Given the description of an element on the screen output the (x, y) to click on. 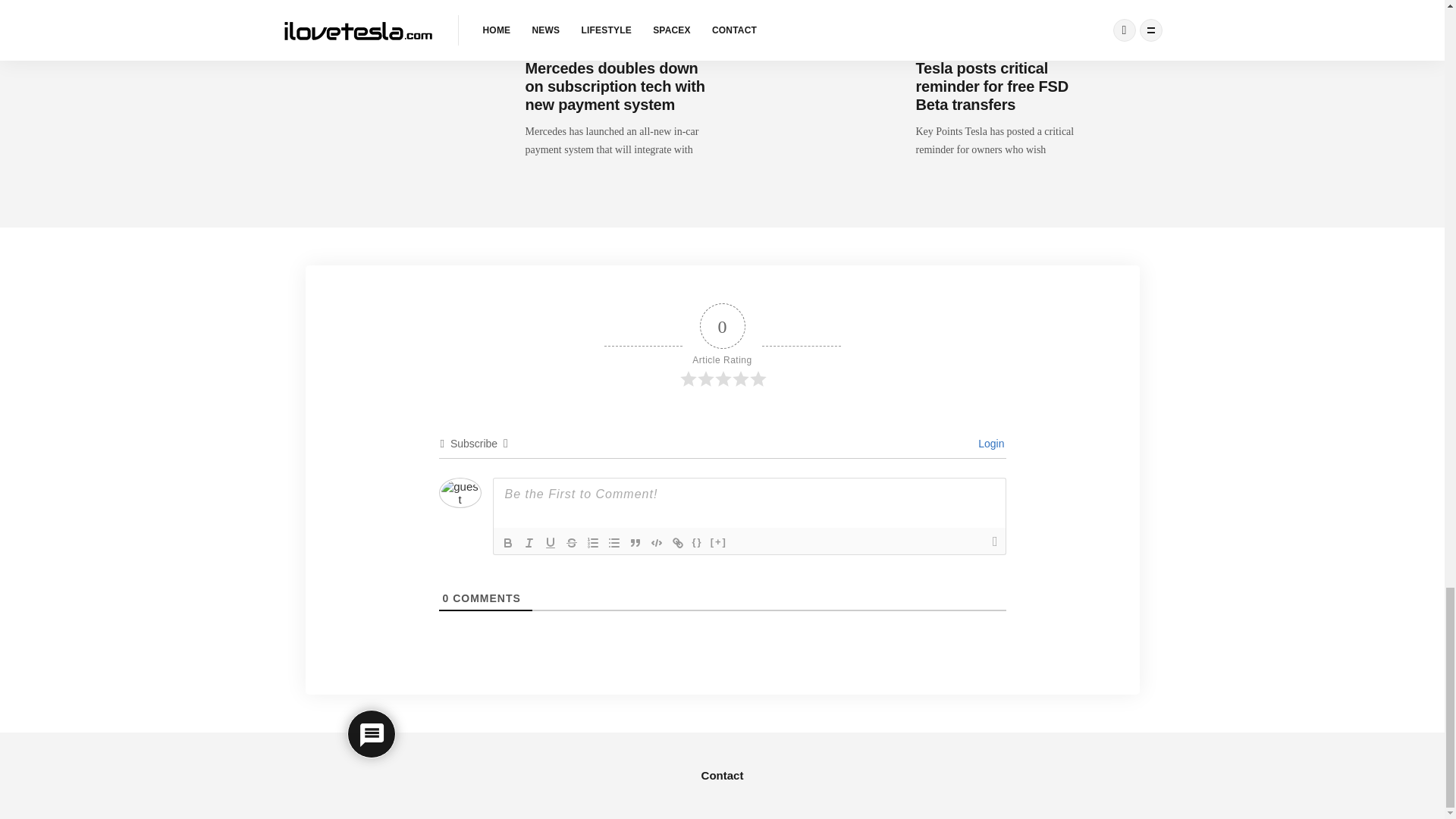
Unordered List (614, 542)
Bold (507, 542)
Strike (571, 542)
Tesla posts critical reminder for free FSD Beta transfers (991, 86)
Login (989, 443)
Underline (550, 542)
Code Block (656, 542)
Source Code (697, 542)
Blockquote (635, 542)
Spoiler (718, 542)
Italic (529, 542)
Link (677, 542)
Ordered List (593, 542)
